Given the description of an element on the screen output the (x, y) to click on. 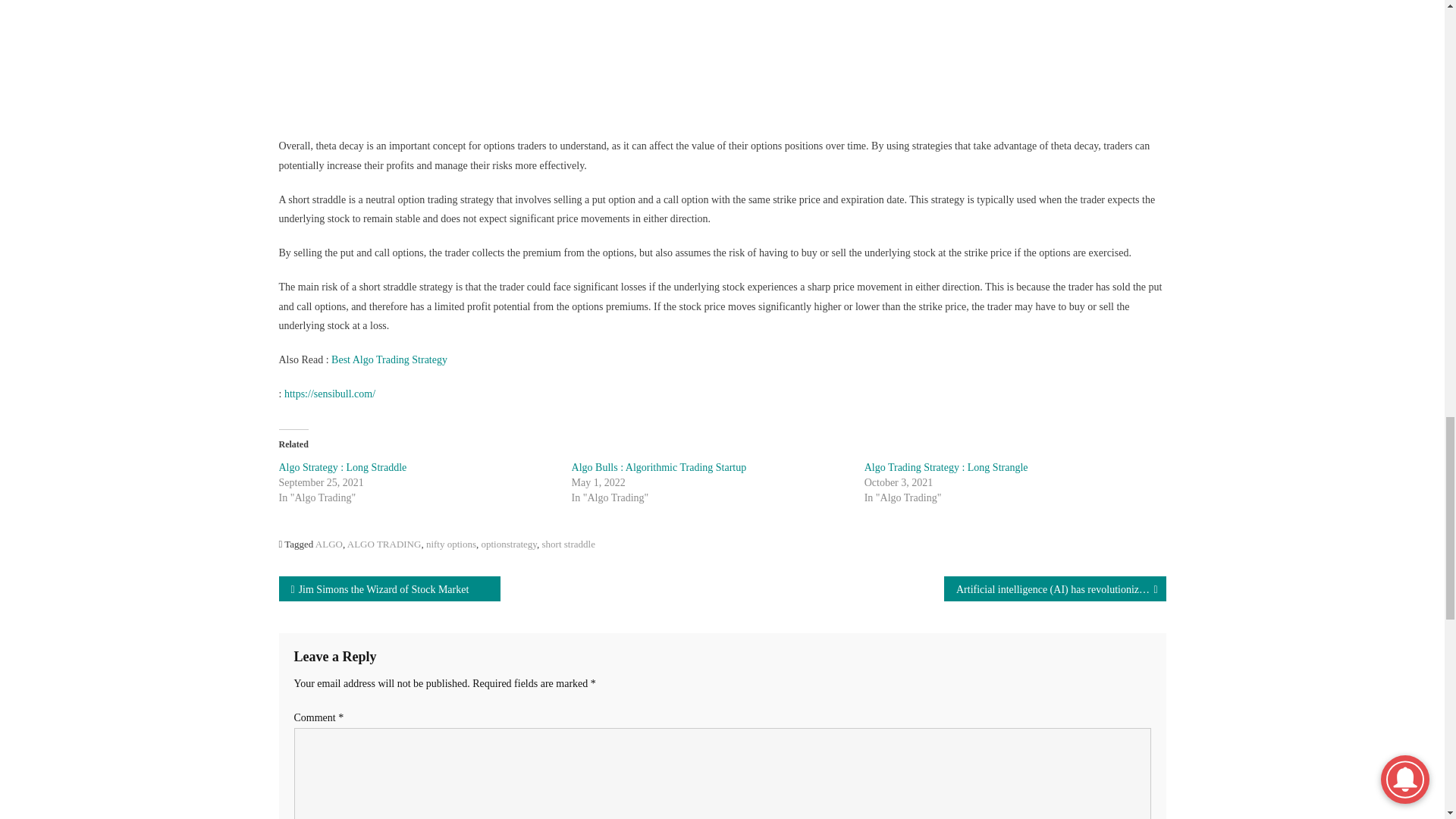
Algo Bulls : Algorithmic Trading Startup (659, 467)
Algo Trading Strategy : Long Strangle (945, 467)
Algo Strategy : Long Straddle (343, 467)
Best Algo Trading Strategy (388, 359)
Algo Bulls : Algorithmic Trading Startup (659, 467)
Algo Strategy : Long Straddle (343, 467)
